Given the description of an element on the screen output the (x, y) to click on. 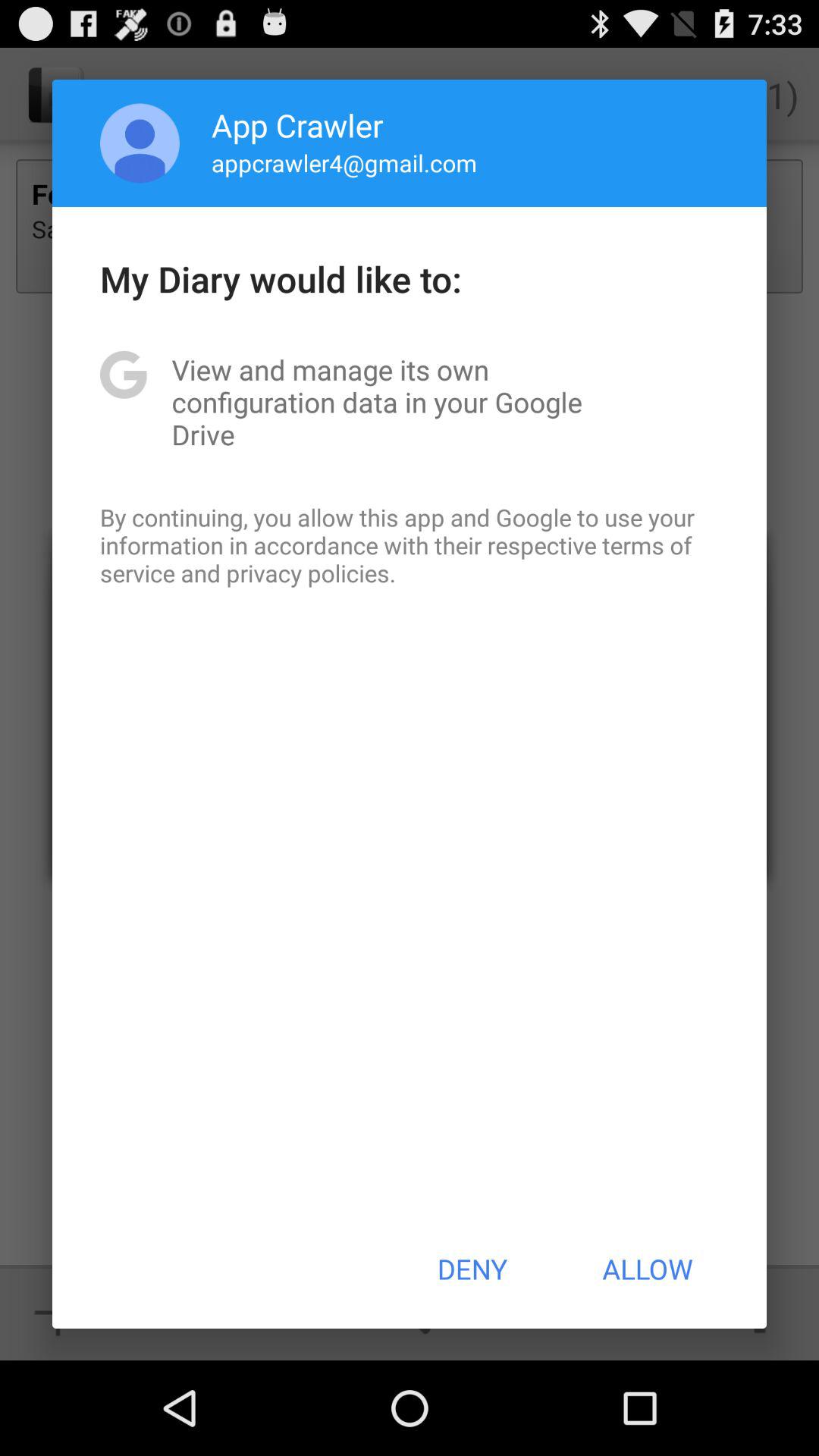
select the button next to the allow button (471, 1268)
